Given the description of an element on the screen output the (x, y) to click on. 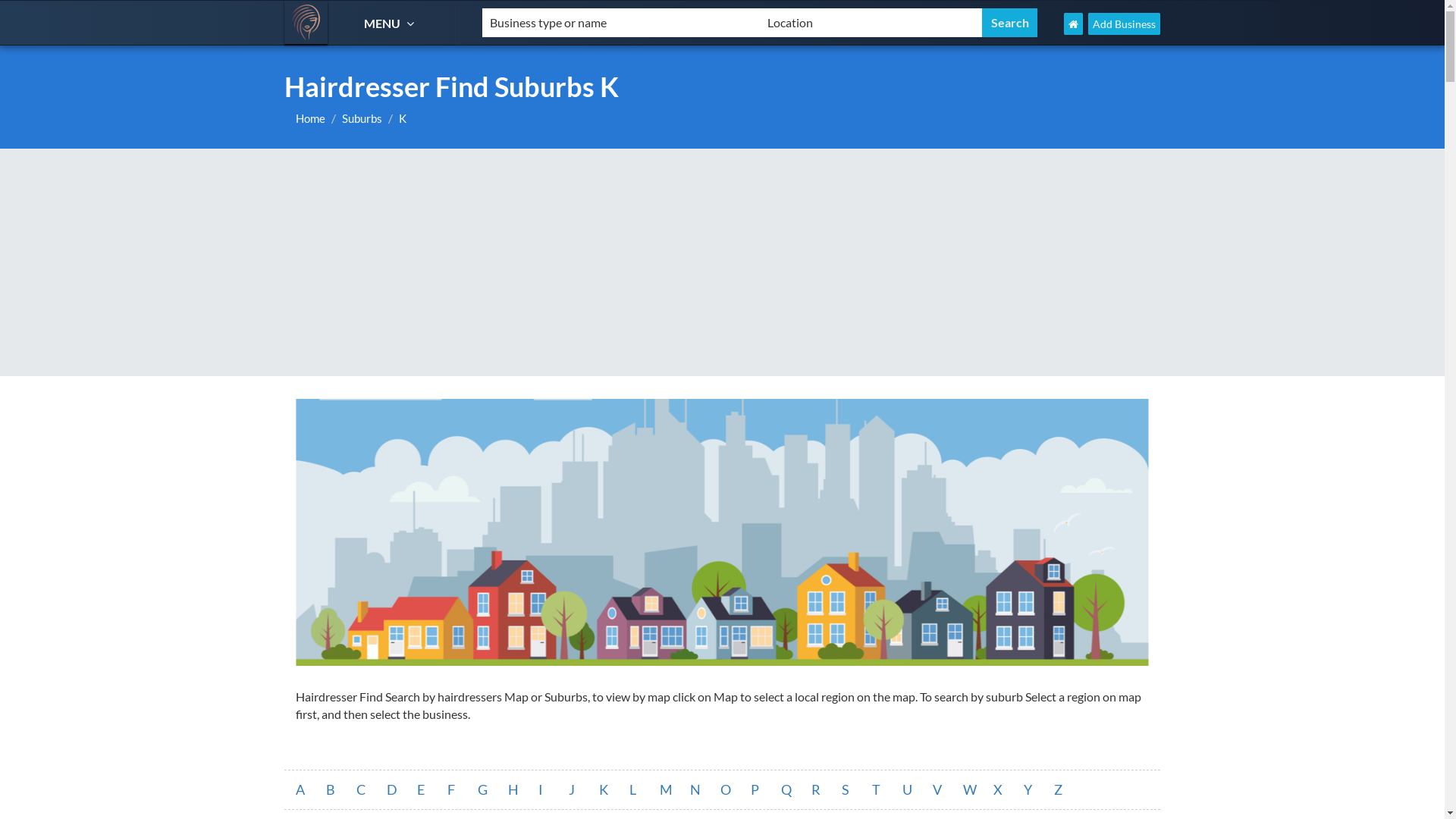
S Element type: text (856, 790)
W Element type: text (978, 790)
X Element type: text (1008, 790)
A Element type: text (310, 790)
Hairdresser Find Element type: hover (305, 21)
O Element type: text (735, 790)
I Element type: text (553, 790)
M Element type: text (674, 790)
Z Element type: text (1069, 790)
L Element type: text (644, 790)
U Element type: text (917, 790)
N Element type: text (705, 790)
Advertisement Element type: hover (721, 262)
J Element type: text (583, 790)
C Element type: text (371, 790)
E Element type: text (432, 790)
Q Element type: text (796, 790)
F Element type: text (462, 790)
Add Business Element type: text (1124, 23)
Suburbs Element type: text (362, 118)
Hairdresser Find Home Page Element type: hover (1072, 23)
P Element type: text (765, 790)
H Element type: text (523, 790)
Y Element type: text (1038, 790)
Search Element type: text (1009, 22)
V Element type: text (947, 790)
R Element type: text (826, 790)
G Element type: text (492, 790)
K Element type: text (402, 118)
D Element type: text (401, 790)
Home Element type: text (310, 118)
T Element type: text (887, 790)
B Element type: text (341, 790)
K Element type: text (614, 790)
MENU Element type: text (390, 22)
